Given the description of an element on the screen output the (x, y) to click on. 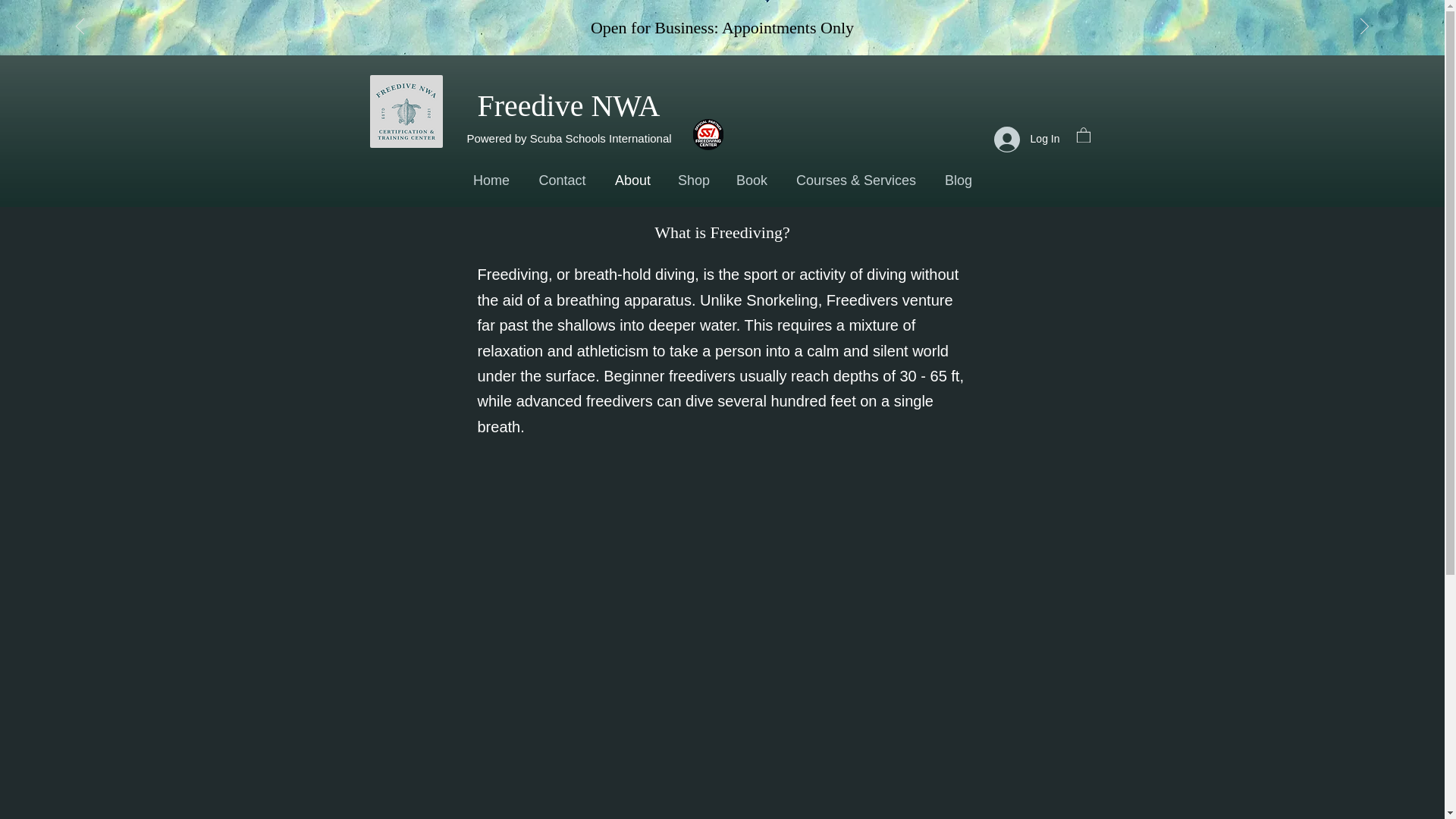
Book (751, 180)
About (632, 180)
Shop (693, 180)
Blog (958, 180)
Freedive NWA (568, 105)
Home (491, 180)
Contact (561, 180)
Log In (1027, 138)
